Given the description of an element on the screen output the (x, y) to click on. 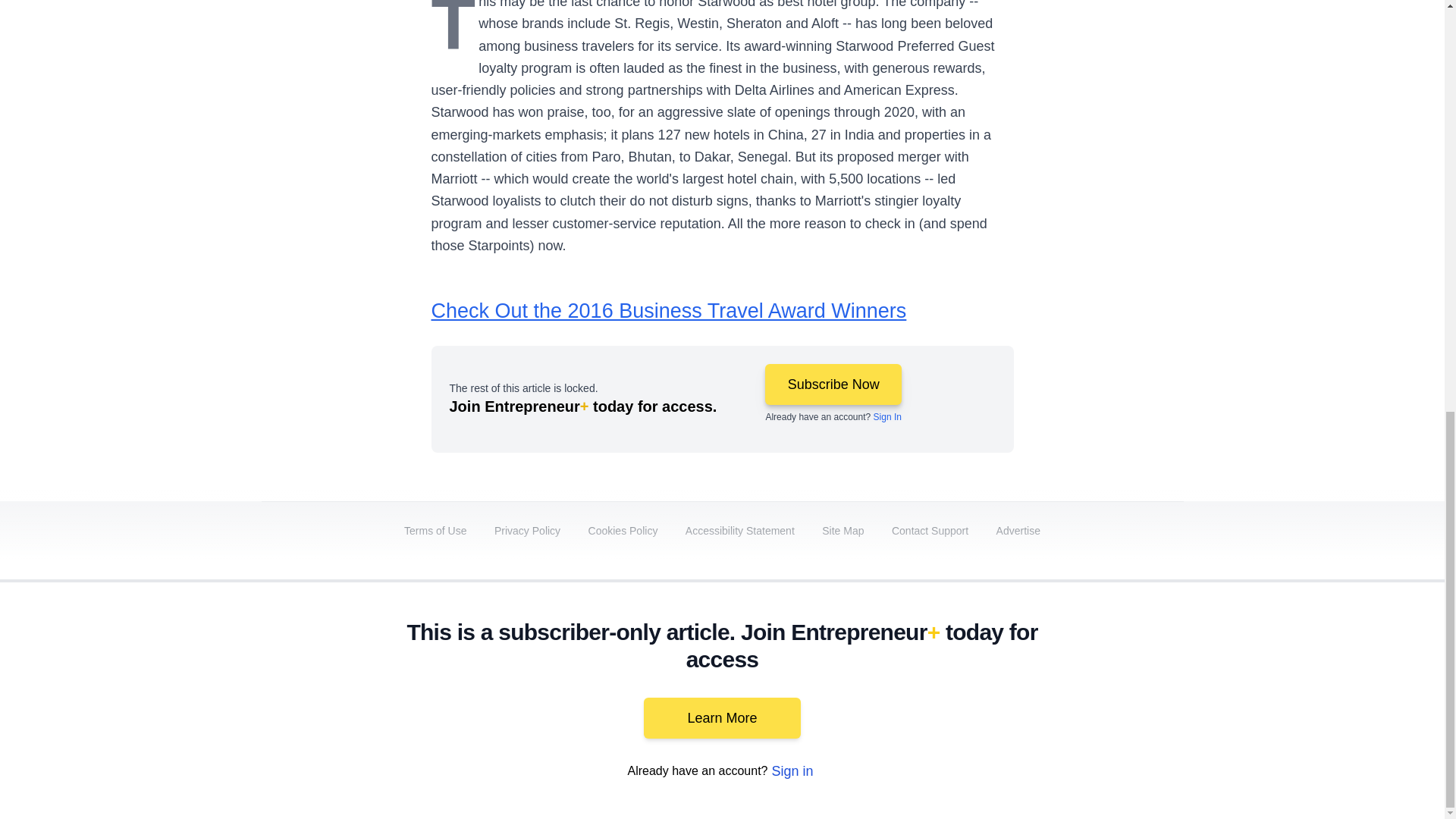
twitter (909, 691)
youtube (994, 691)
linkedin (952, 691)
snapchat (1121, 691)
rss (1164, 691)
facebook (866, 691)
instagram (1037, 691)
tiktok (1079, 691)
